Given the description of an element on the screen output the (x, y) to click on. 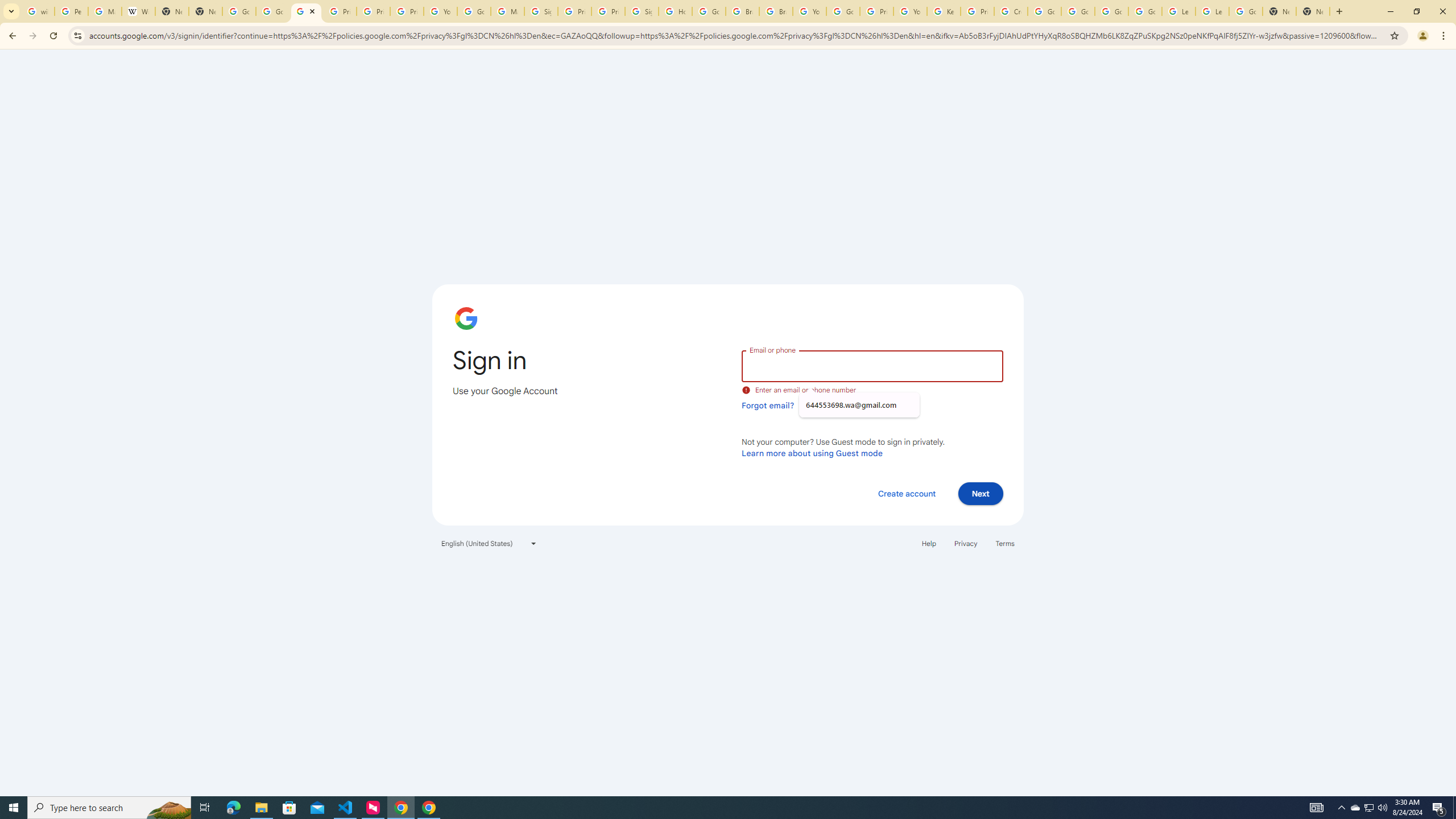
New Tab (1313, 11)
Create your Google Account (1010, 11)
Sign in - Google Accounts (541, 11)
